Given the description of an element on the screen output the (x, y) to click on. 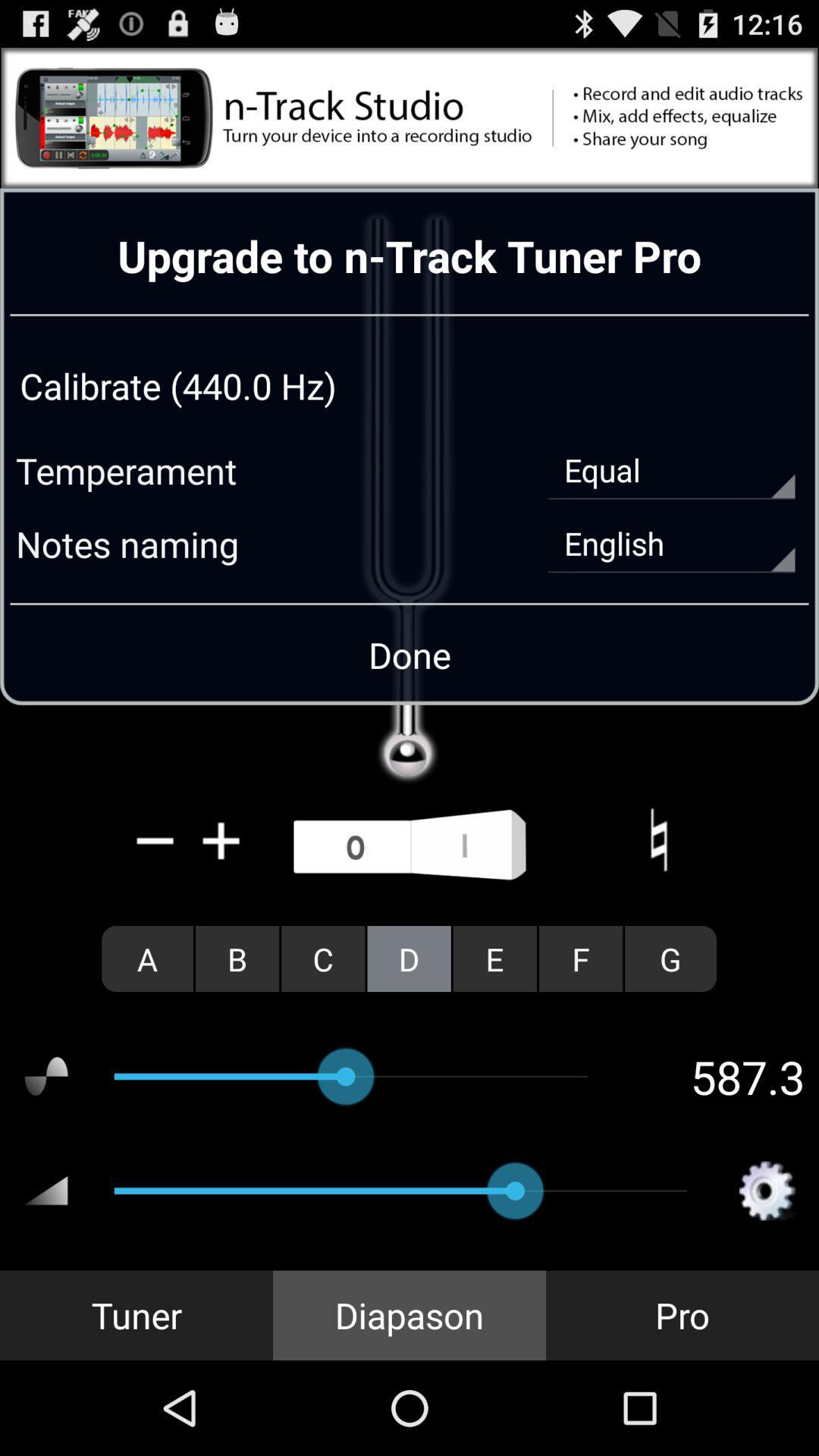
open g radio button (670, 958)
